Given the description of an element on the screen output the (x, y) to click on. 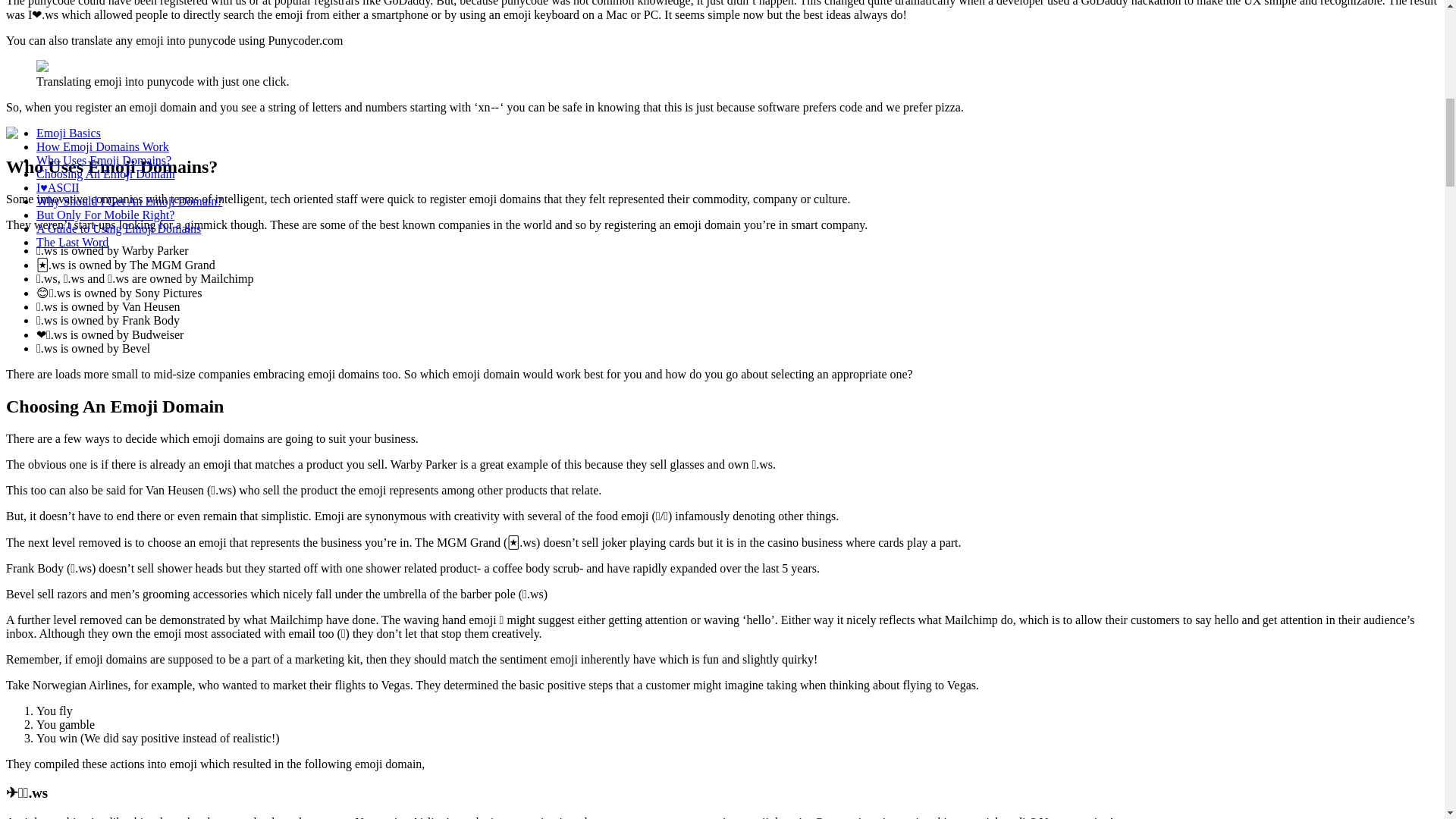
Punycoder.com (304, 40)
